Given the description of an element on the screen output the (x, y) to click on. 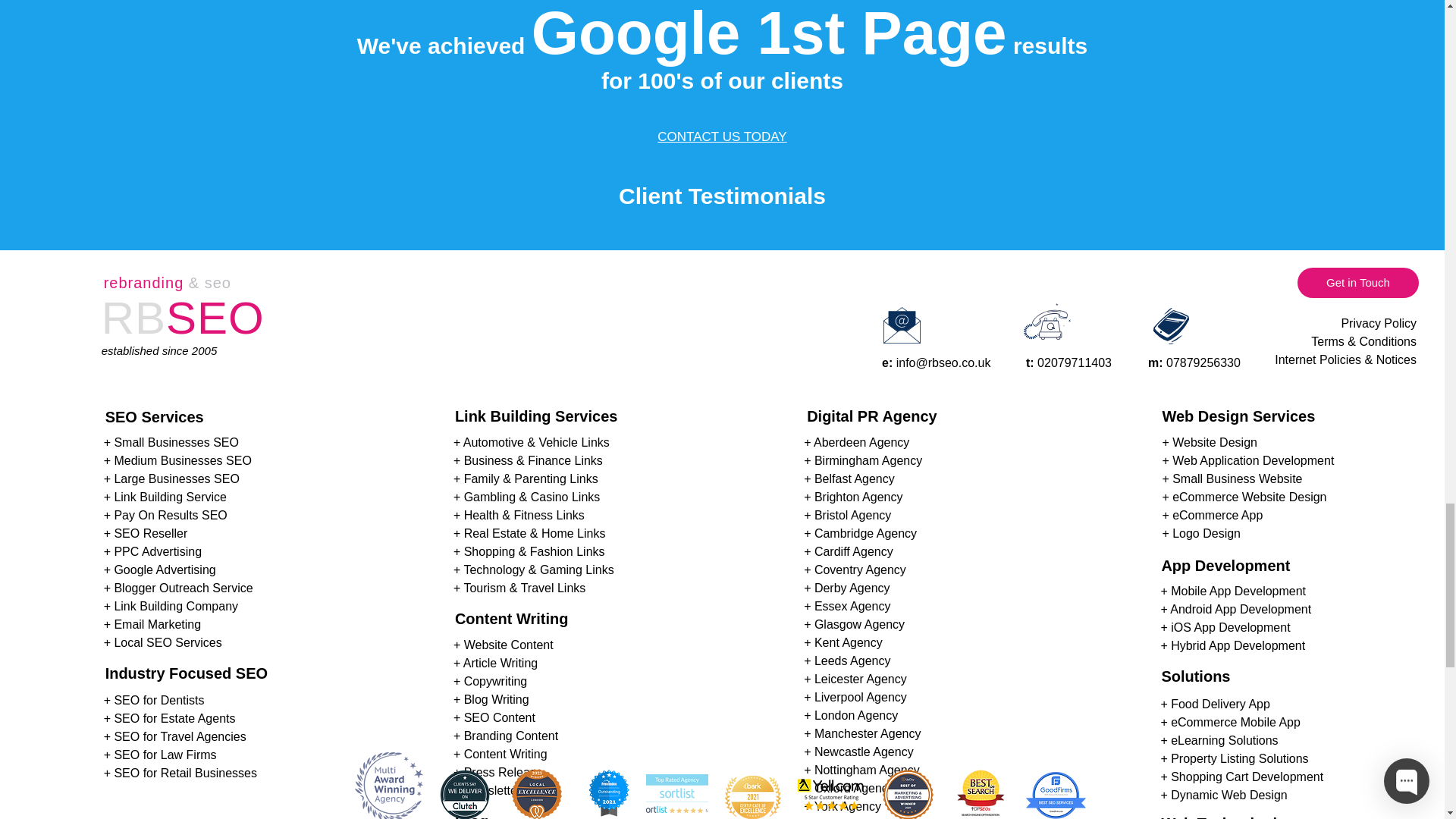
established since 2005 (158, 349)
Client Testimonials (721, 195)
RBSEO (182, 328)
Get in Touch (1357, 281)
CONTACT US TODAY (722, 135)
02079711403 (1074, 362)
Privacy Policy (1378, 323)
07879256330 (1203, 362)
